Given the description of an element on the screen output the (x, y) to click on. 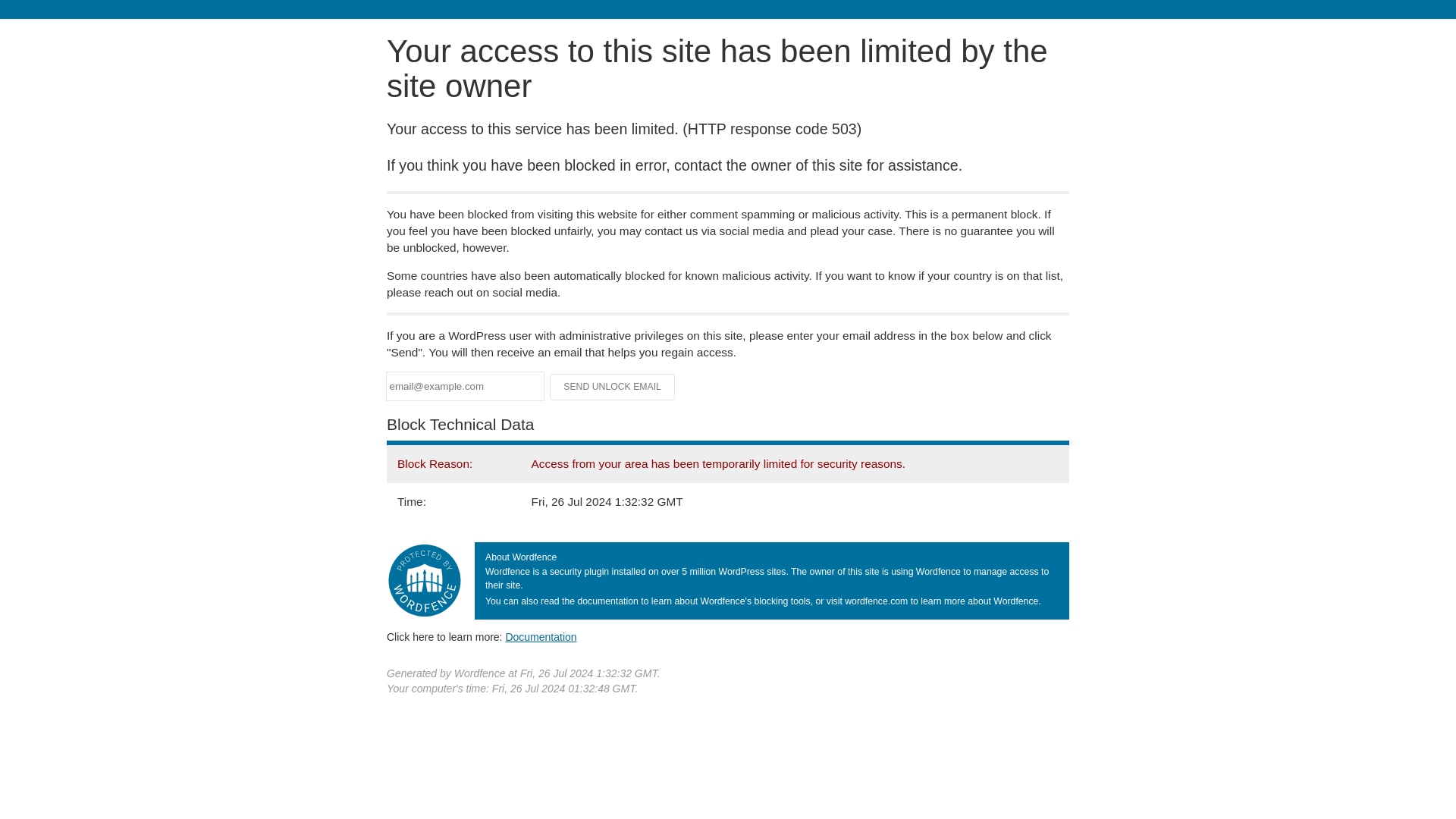
Send Unlock Email (612, 386)
Documentation (540, 636)
Send Unlock Email (612, 386)
